Given the description of an element on the screen output the (x, y) to click on. 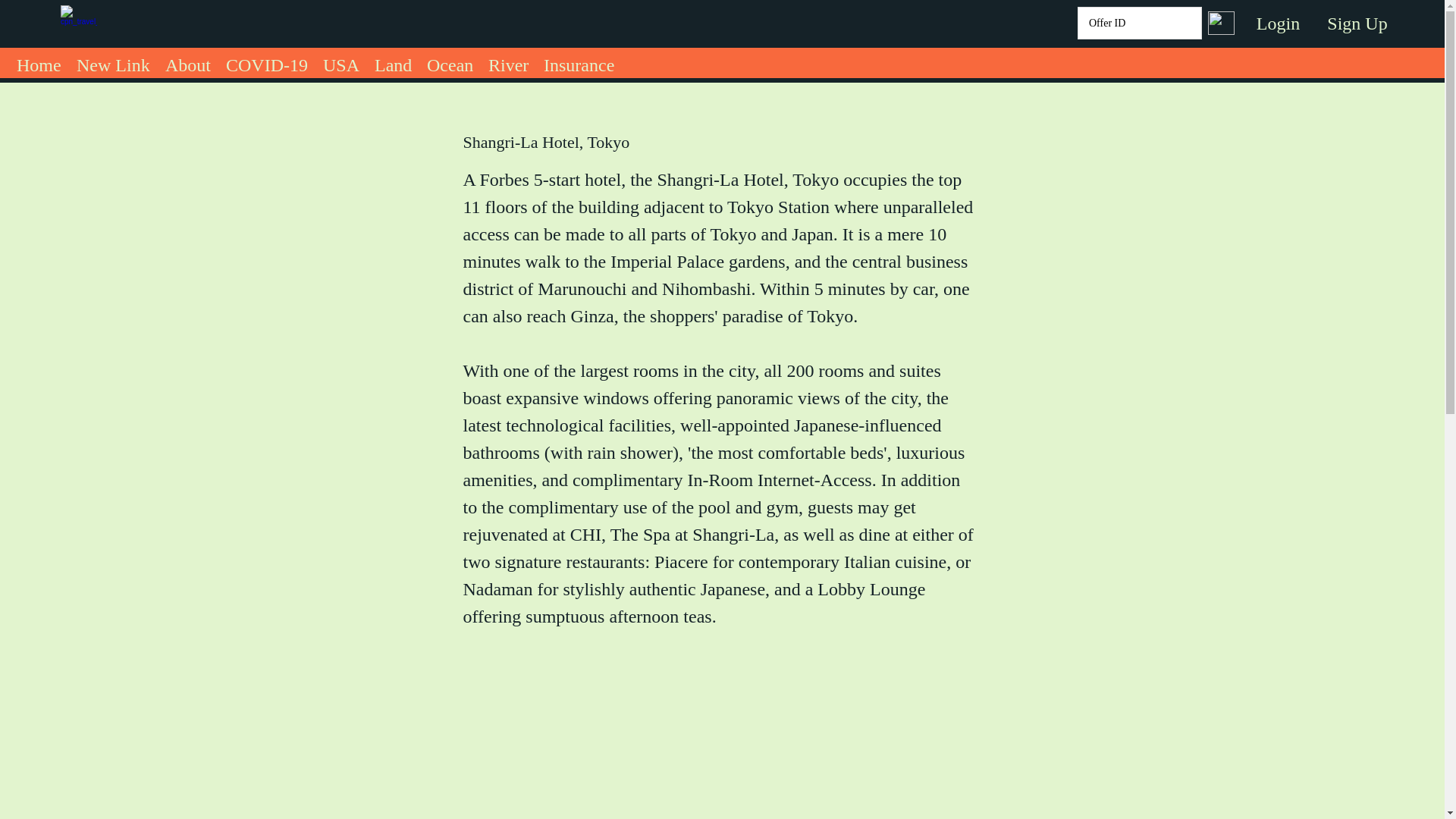
Home (38, 61)
COVID-19 (266, 61)
Sign Up (1357, 24)
Login (1277, 24)
Shangri-La Hotel, Tokyo (720, 745)
New Link (112, 61)
USA (340, 61)
About (187, 61)
